Given the description of an element on the screen output the (x, y) to click on. 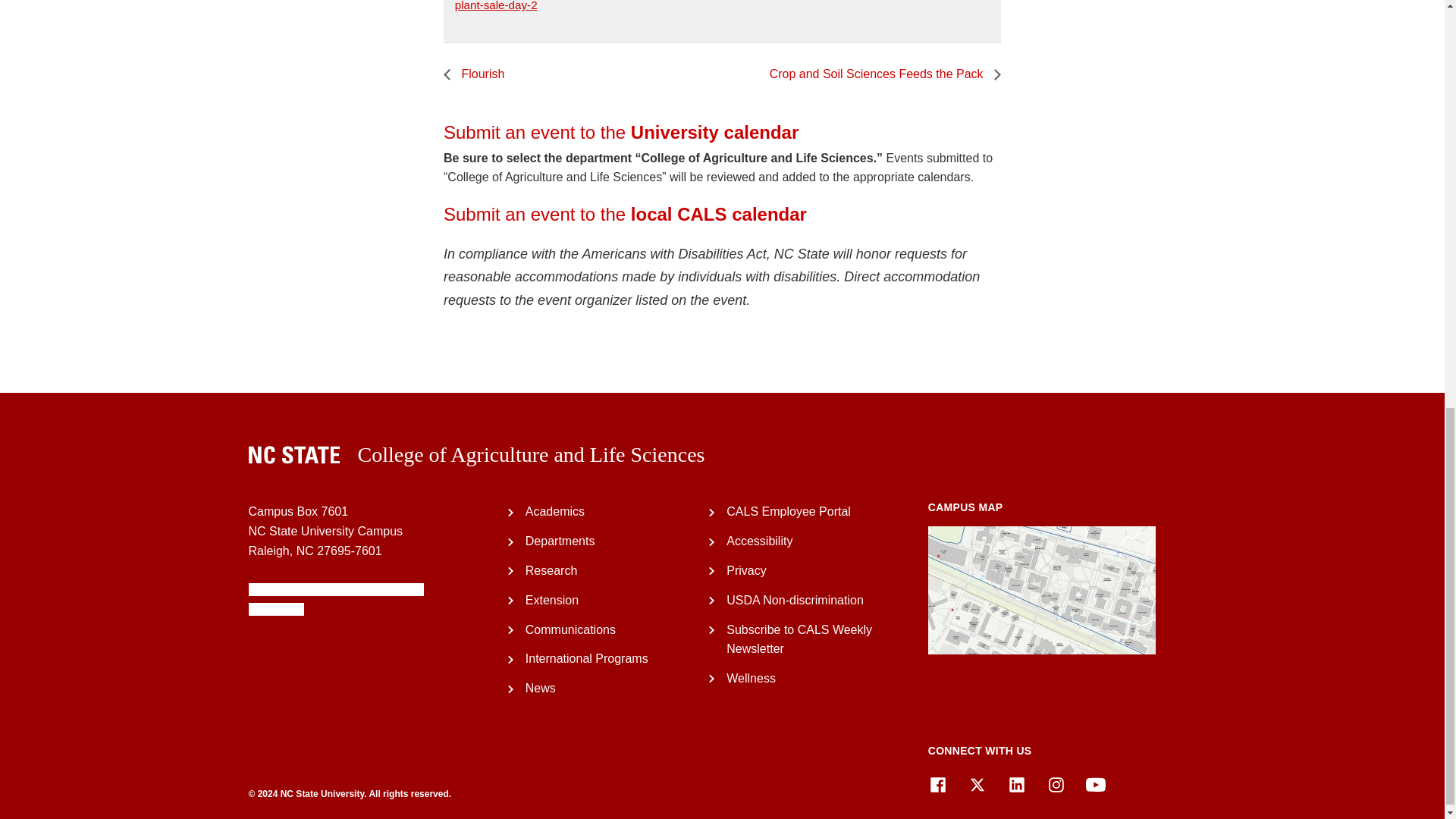
YouTube (1095, 784)
LinkedIn (1016, 784)
X (977, 784)
Instagram (1055, 784)
Facebook (937, 784)
